Given the description of an element on the screen output the (x, y) to click on. 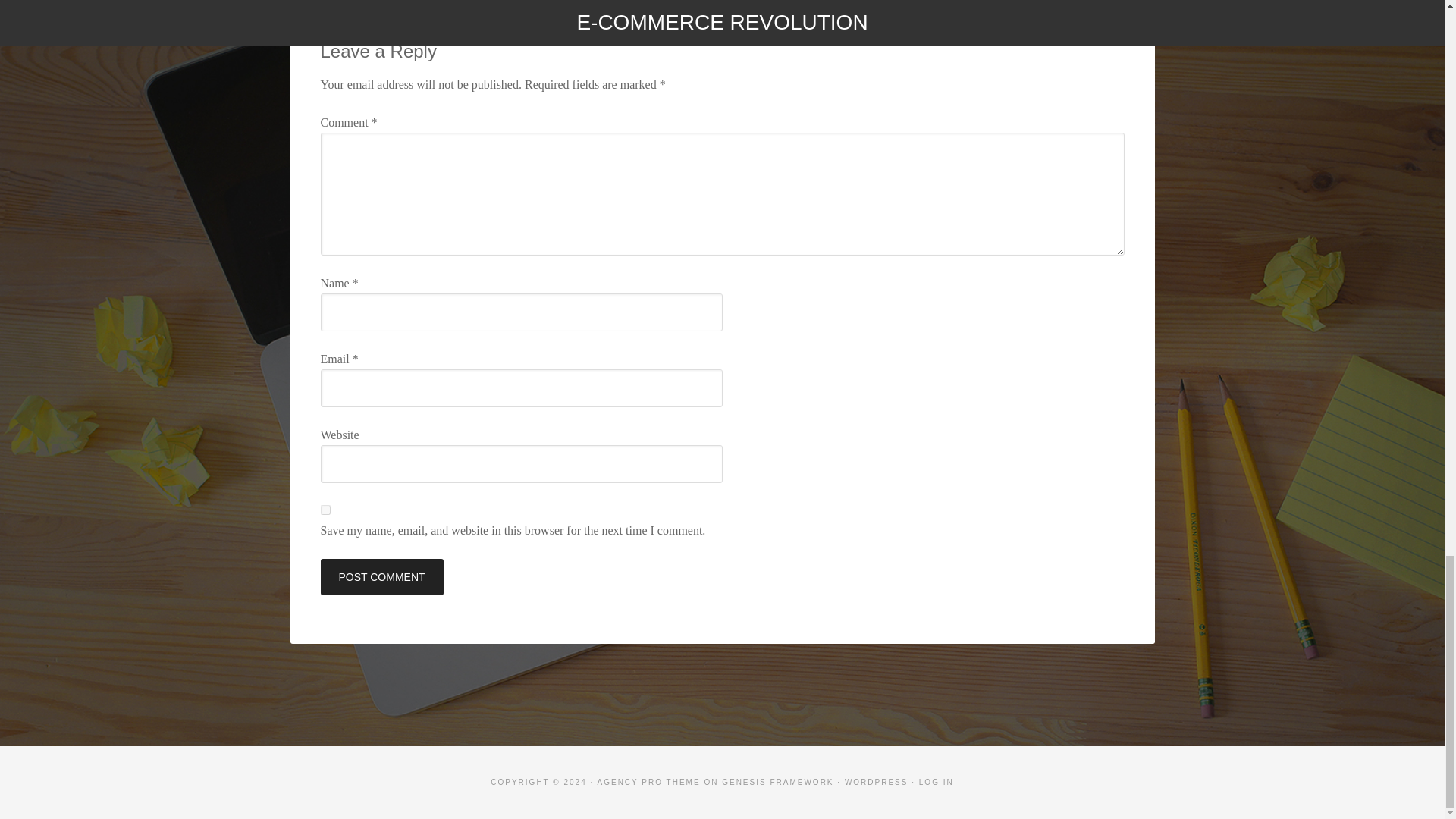
WORDPRESS (876, 782)
AGENCY PRO THEME (648, 782)
Post Comment (381, 576)
LOG IN (935, 782)
Post Comment (381, 576)
yes (325, 510)
GENESIS FRAMEWORK (777, 782)
